Given the description of an element on the screen output the (x, y) to click on. 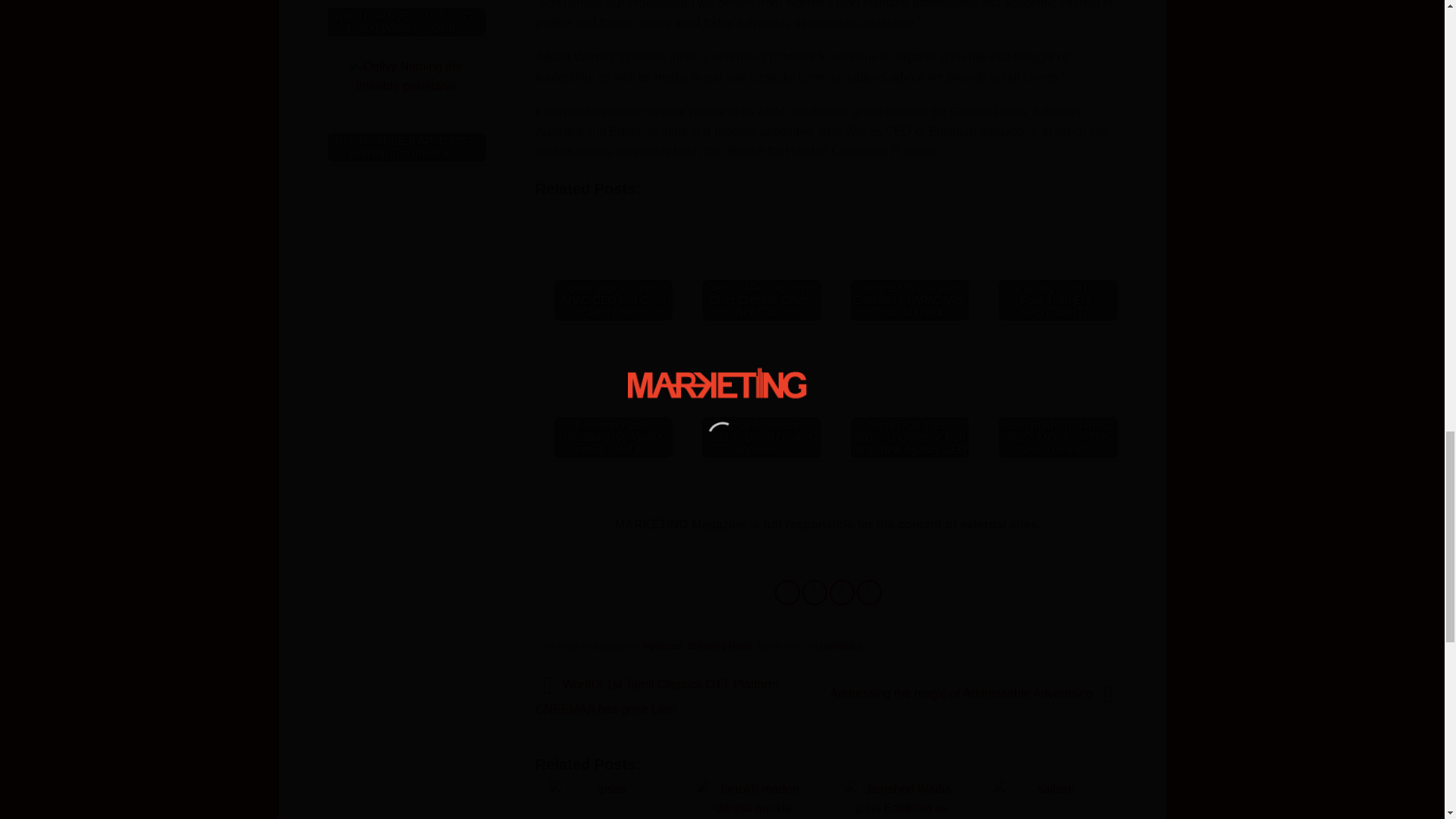
Ipsos appoints new APAC CEO and Chief Client Officer (612, 260)
